Given the description of an element on the screen output the (x, y) to click on. 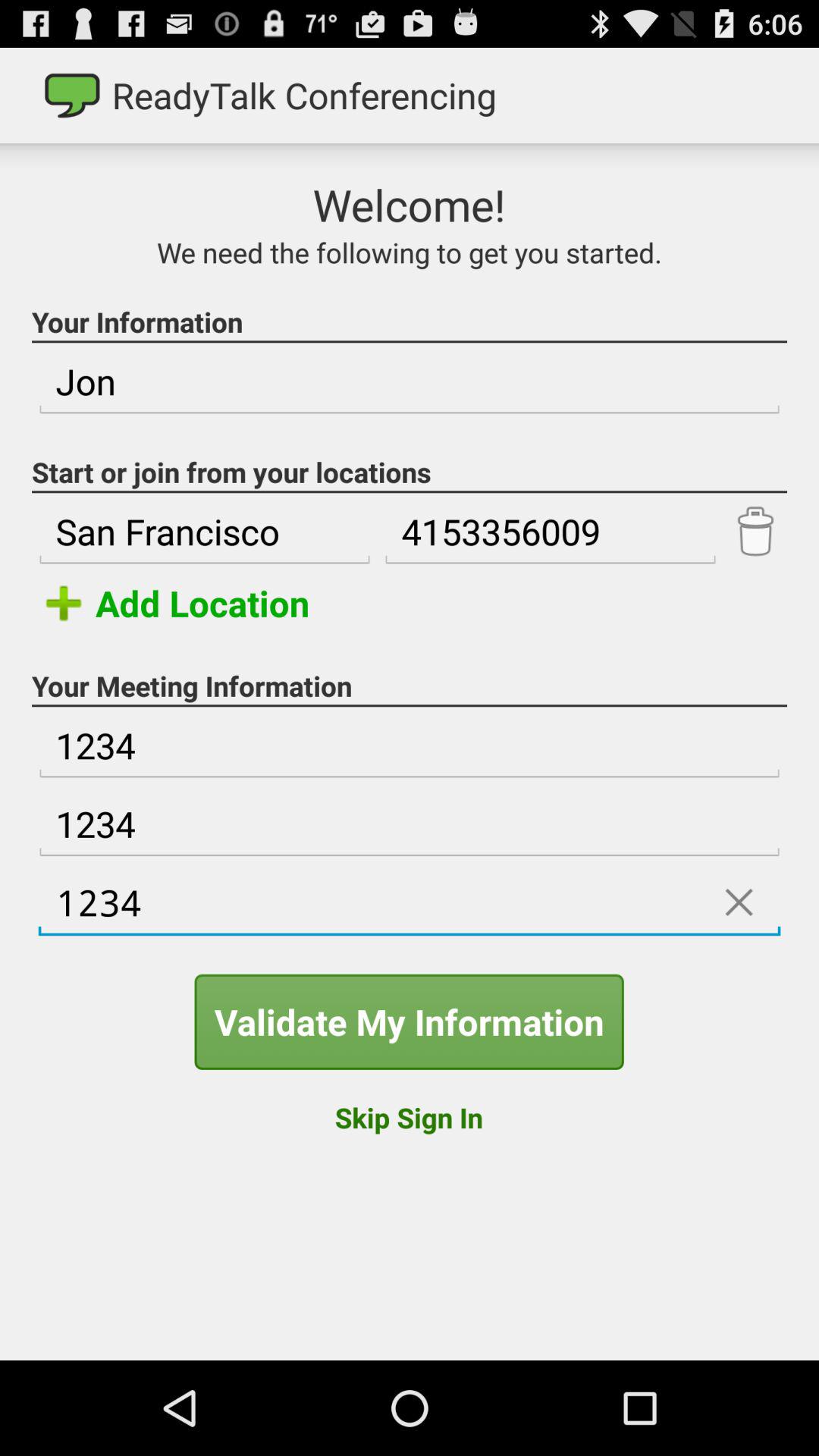
flip until the jon item (409, 381)
